Given the description of an element on the screen output the (x, y) to click on. 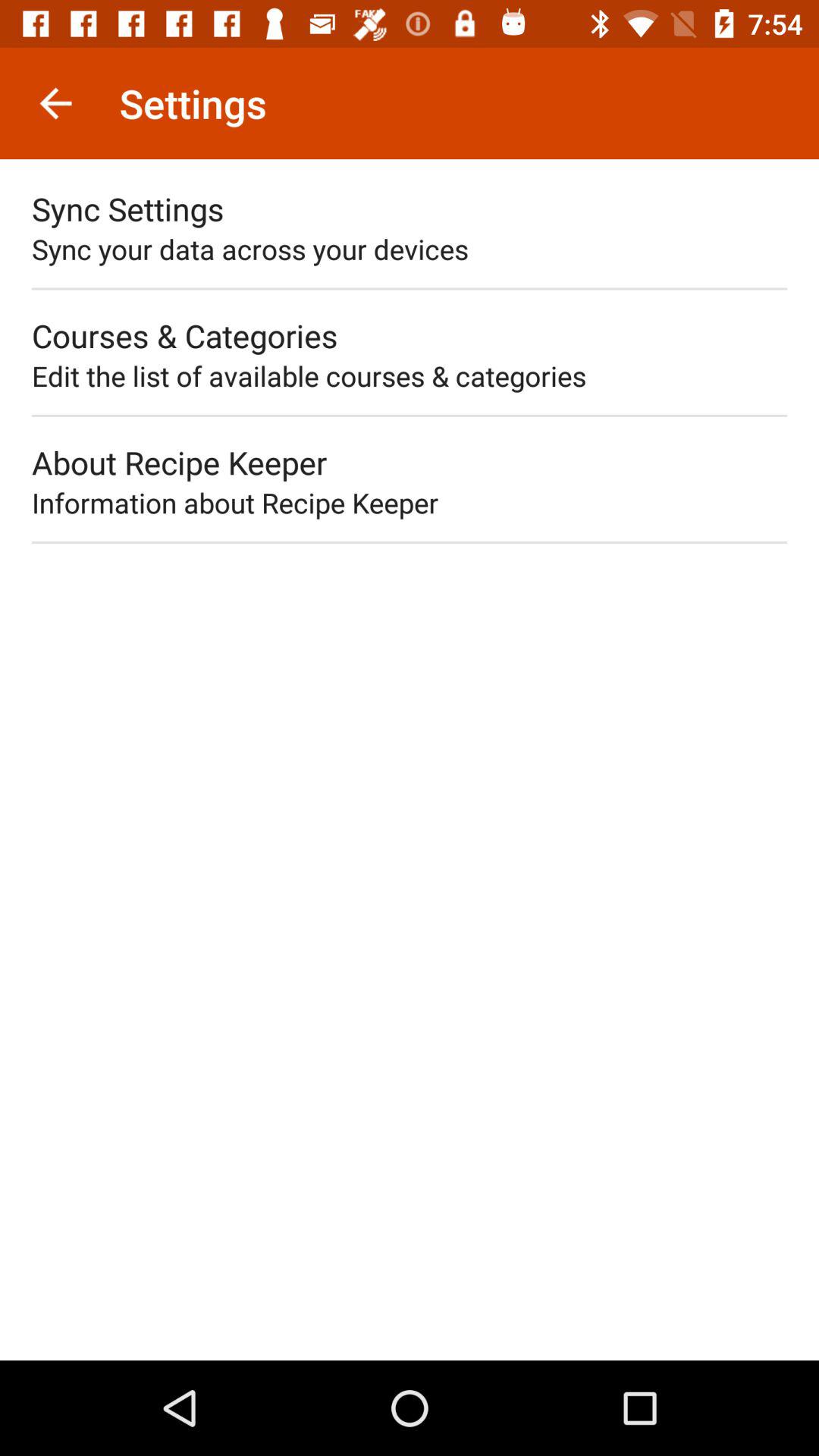
click item to the left of settings item (55, 103)
